Given the description of an element on the screen output the (x, y) to click on. 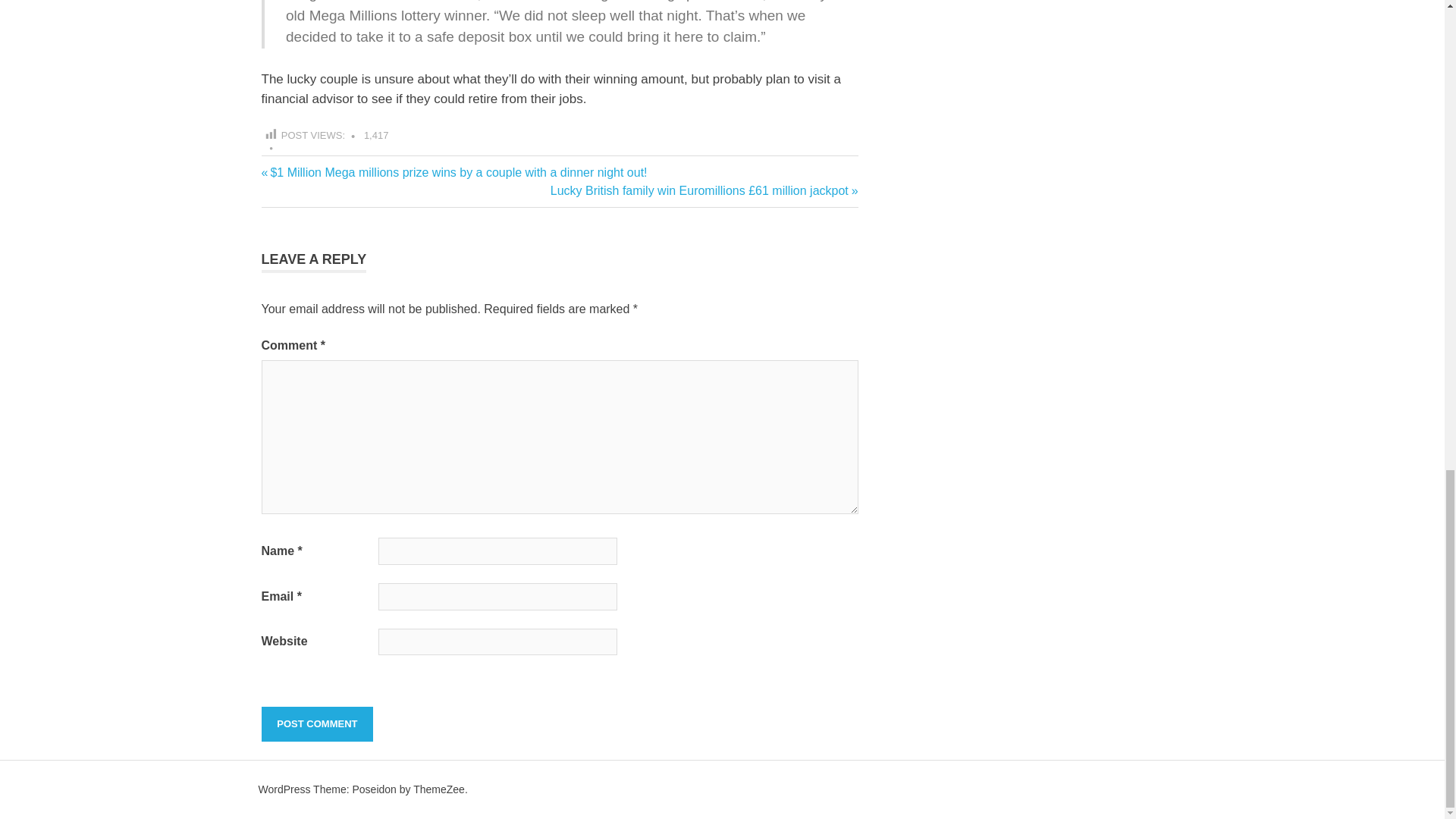
Post Comment (316, 724)
Post Comment (316, 724)
megamillions lottery winners (296, 181)
ThemeZee (438, 788)
